Given the description of an element on the screen output the (x, y) to click on. 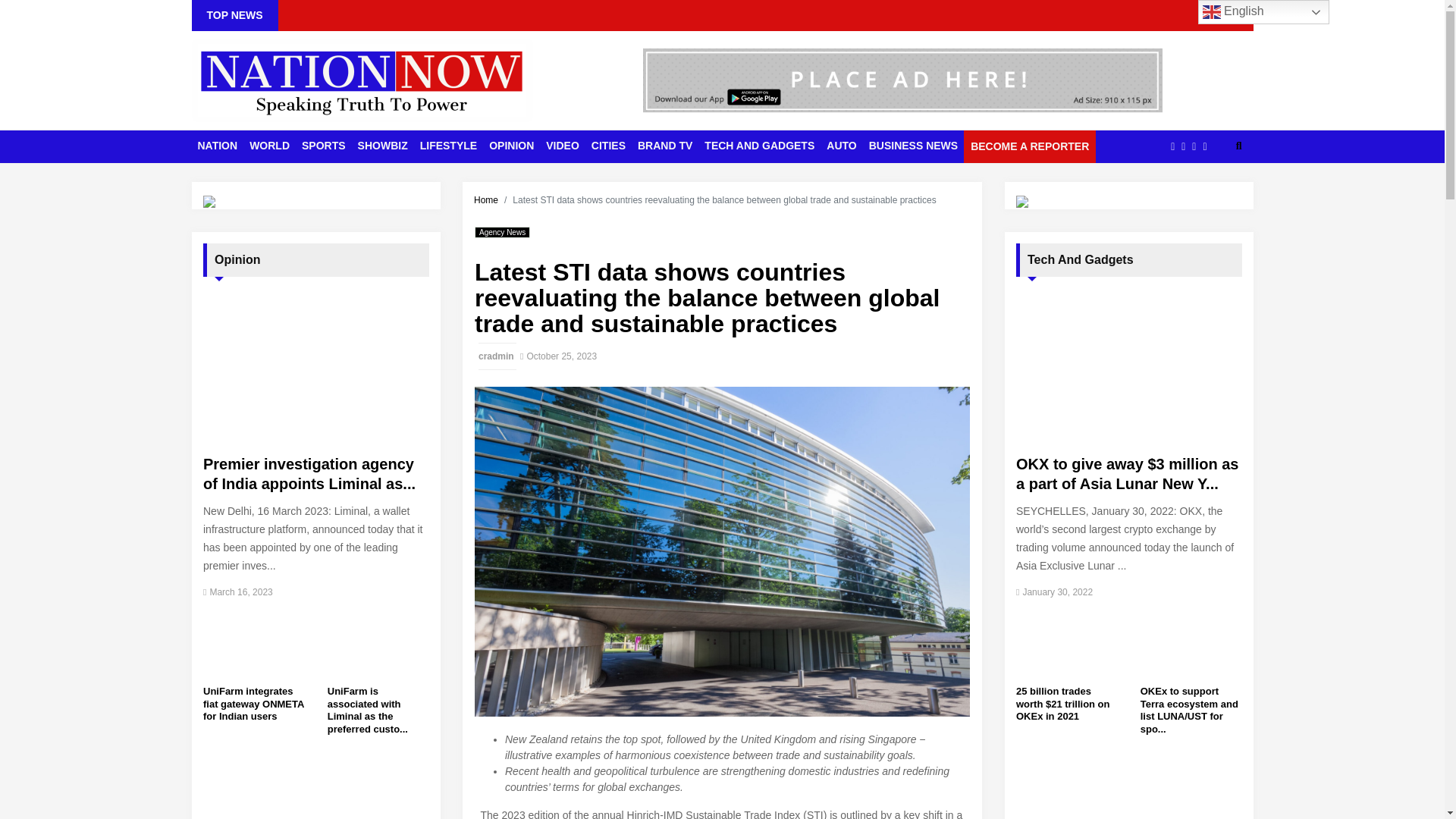
SPORTS (323, 145)
VIDEO (562, 145)
WORLD (269, 145)
TECH AND GADGETS (759, 145)
NATION (216, 145)
AUTO (841, 145)
BRAND TV (664, 145)
SHOWBIZ (382, 145)
CITIES (608, 145)
OPINION (511, 145)
